Given the description of an element on the screen output the (x, y) to click on. 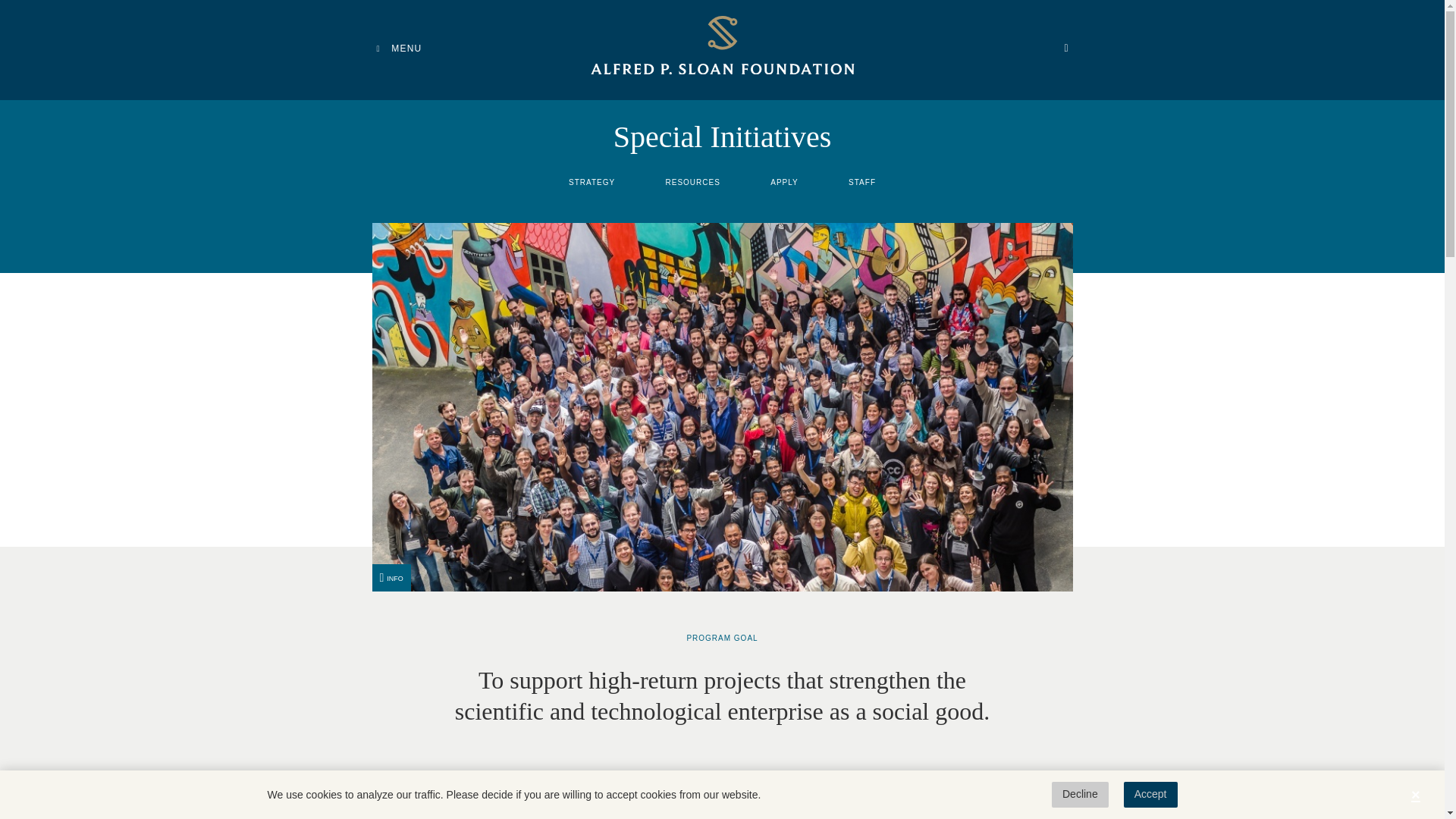
RESOURCES (692, 184)
MENU (398, 47)
Click to search the website (1065, 48)
STAFF (862, 184)
STRATEGY (591, 184)
APPLY (783, 184)
